Given the description of an element on the screen output the (x, y) to click on. 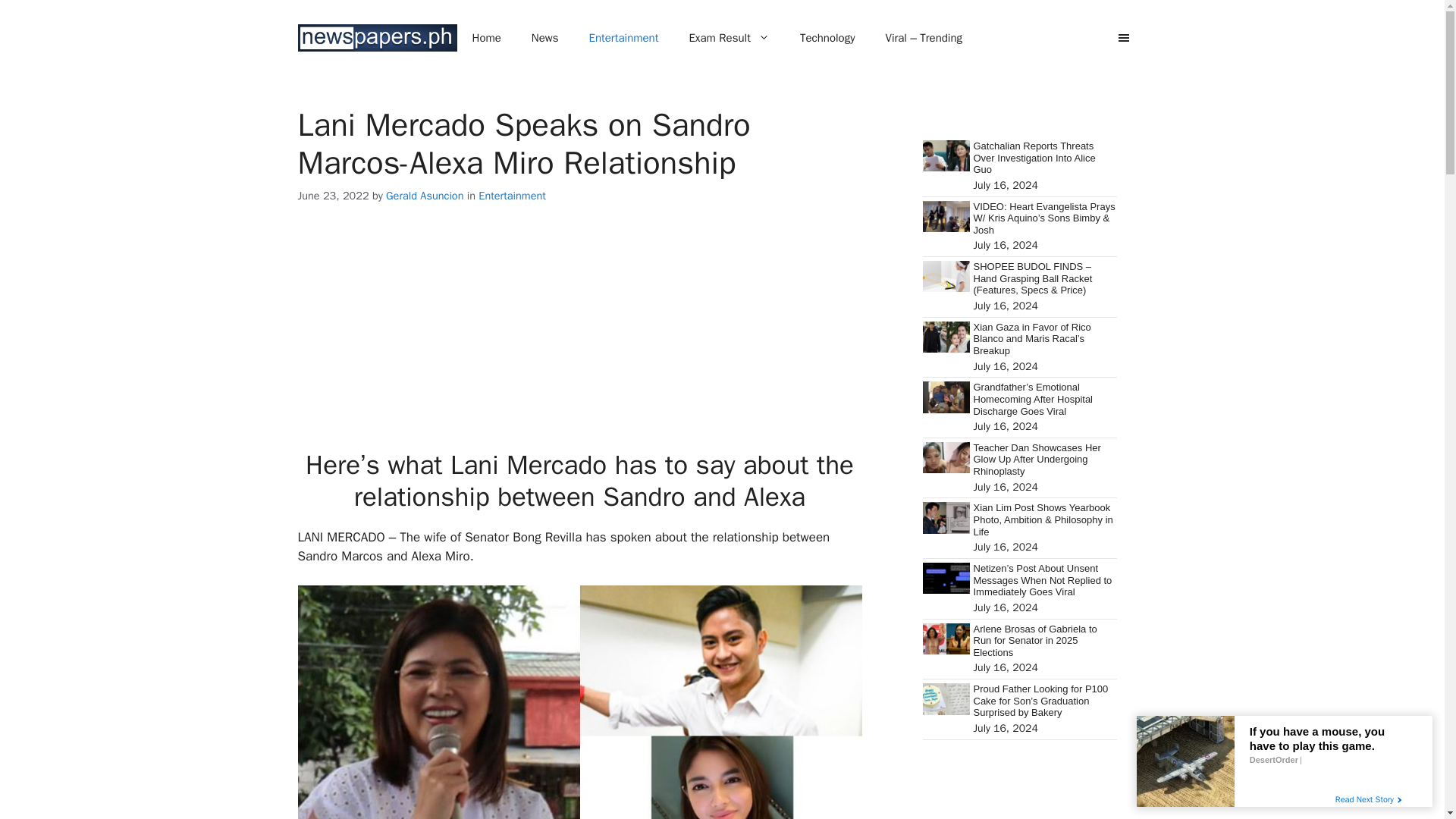
News (544, 37)
Entertainment (623, 37)
Home (486, 37)
View all posts by Gerald Asuncion (424, 195)
Exam Result (728, 37)
